Given the description of an element on the screen output the (x, y) to click on. 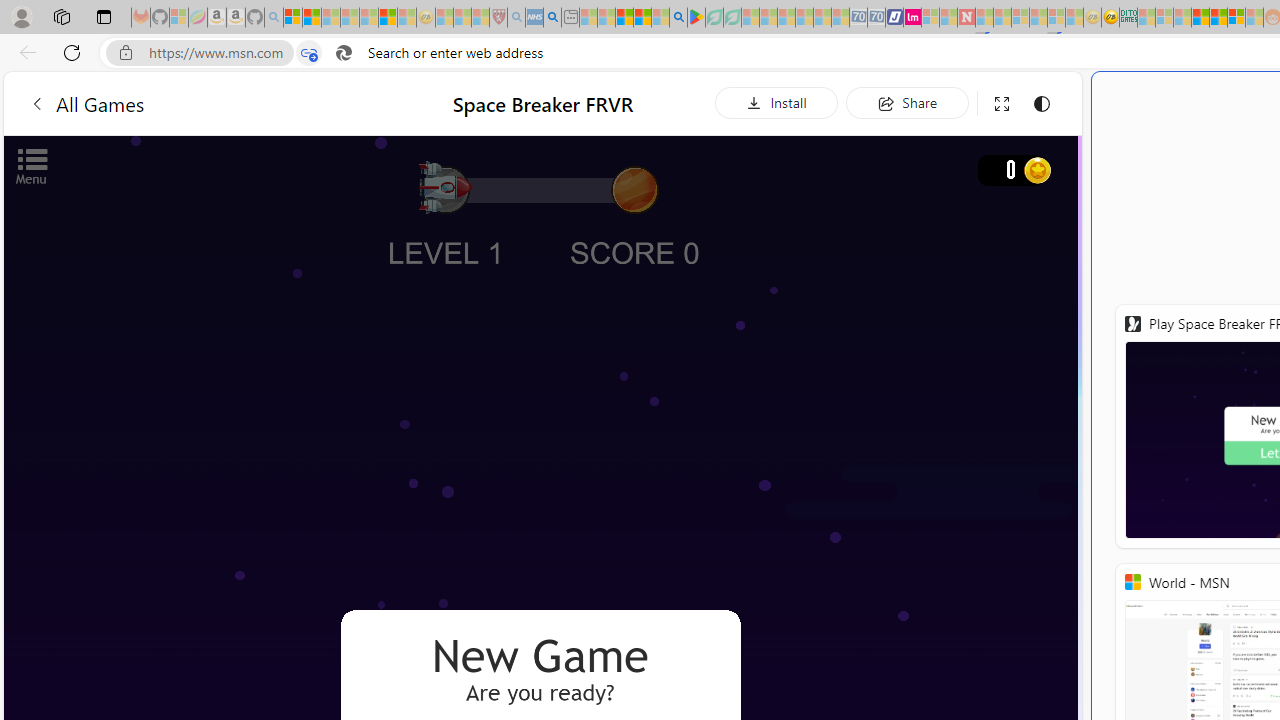
Change to dark mode (1041, 103)
All Games (200, 102)
Terms of Use Agreement - Sleeping (714, 17)
